Given the description of an element on the screen output the (x, y) to click on. 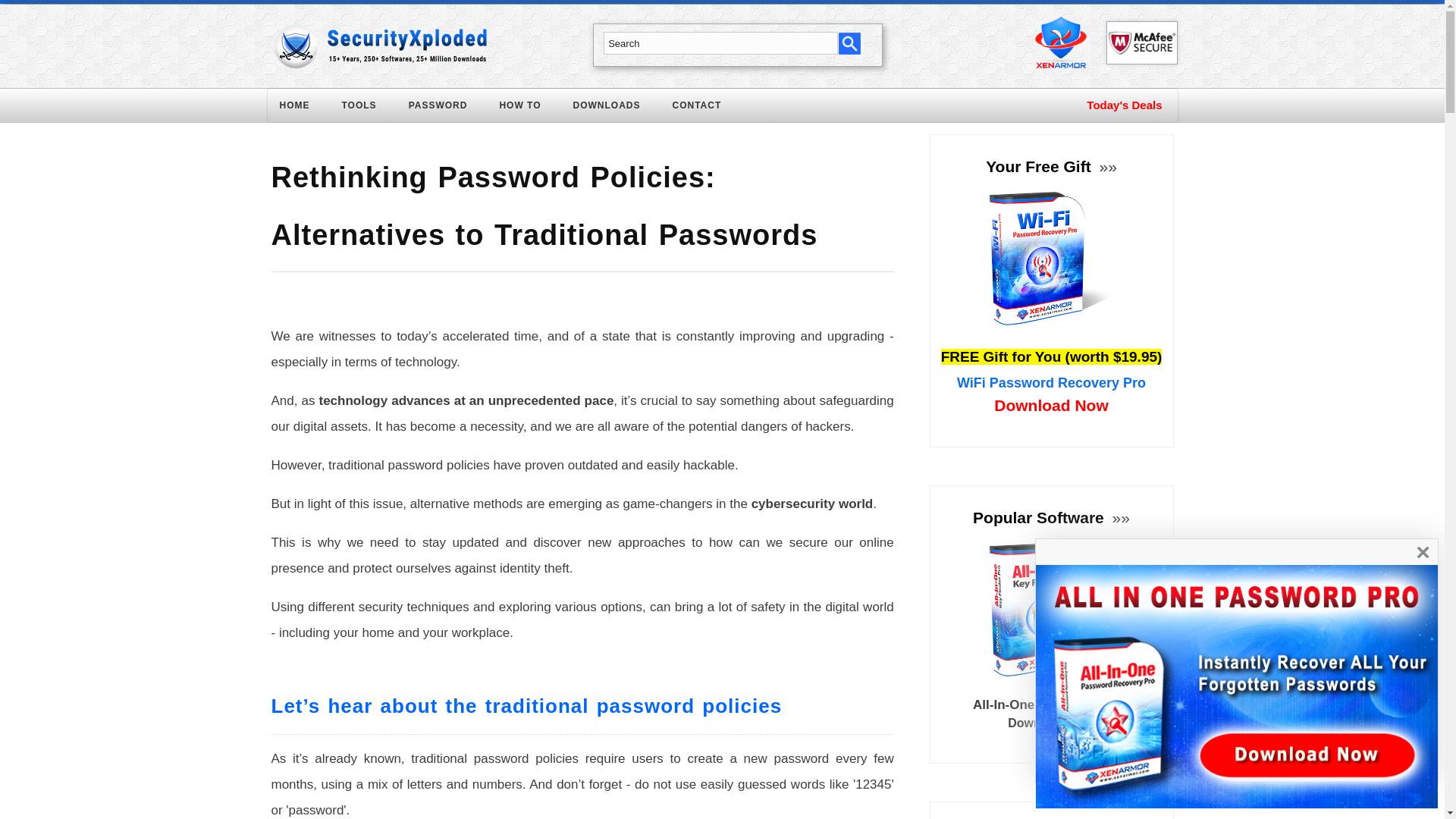
PASSWORD (447, 108)
HOW TO (529, 108)
DOWNLOADS (616, 108)
CONTACT (706, 108)
See More... (1118, 517)
HOME (304, 108)
See More... (1105, 166)
Safe Rating by Mcafee Secure (1140, 42)
TOOLS (367, 108)
search (849, 42)
